Given the description of an element on the screen output the (x, y) to click on. 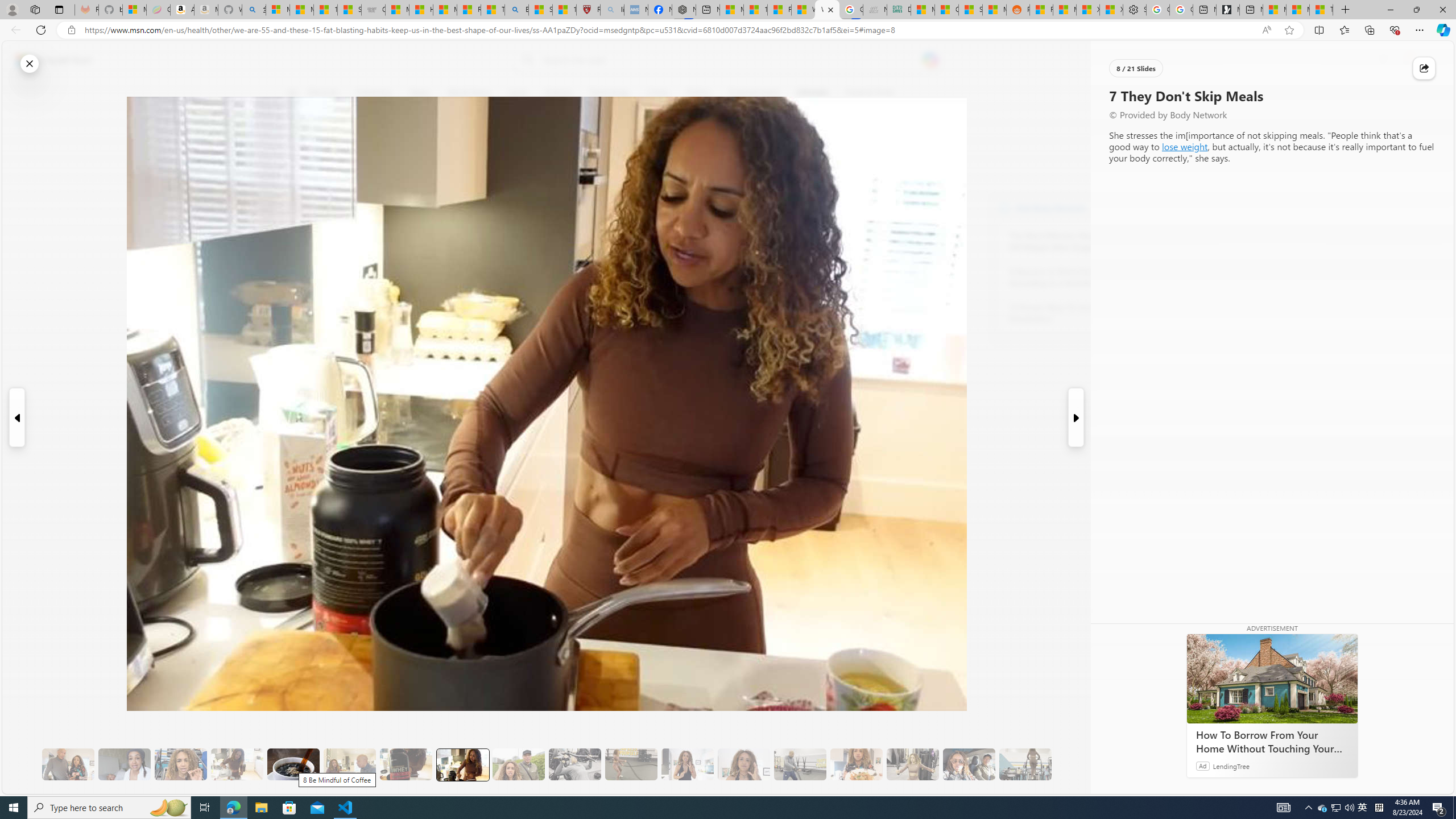
View site information (70, 29)
Collections (1369, 29)
Address and search bar (669, 29)
Enter your search term (730, 59)
11 They Eat More Protein for Breakfast (687, 764)
LendingTree (1231, 765)
6 Since Eating More Protein Her Training Has Improved (406, 764)
Feedback (1410, 784)
Food & Drink (869, 92)
14 They Have Salmon and Veggies for Dinner (855, 764)
Discover (327, 92)
Science - MSN (540, 9)
